Given the description of an element on the screen output the (x, y) to click on. 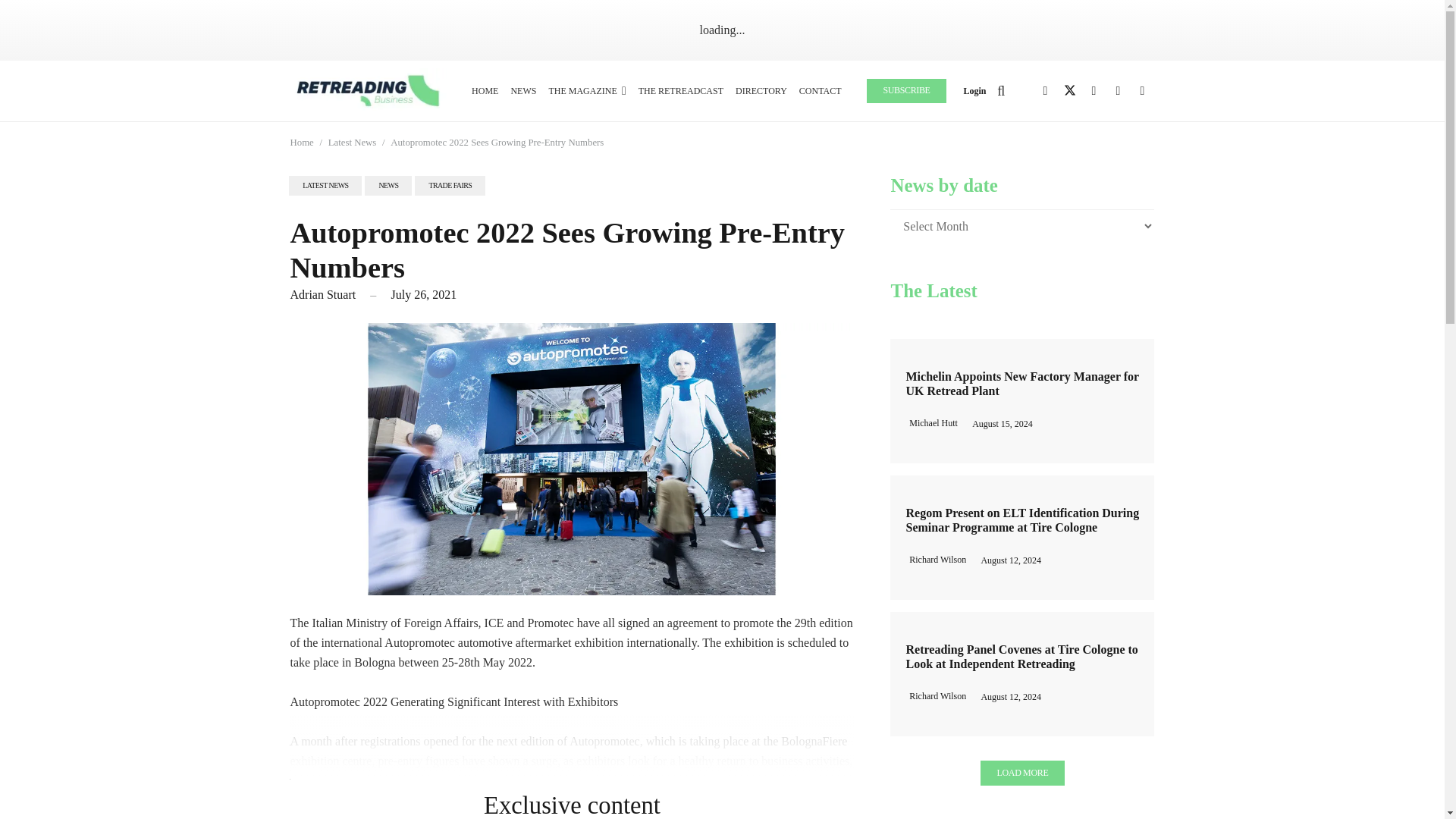
THE MAGAZINE (586, 90)
Twitter (1069, 90)
LOAD MORE (1021, 772)
Autopromotec 2022 Sees Growing Pre-Entry Numbers (497, 142)
Home (301, 142)
TRADE FAIRS (449, 185)
Latest News (353, 142)
WhatsApp (1142, 90)
SUBSCRIBE (906, 91)
Login (975, 90)
